Given the description of an element on the screen output the (x, y) to click on. 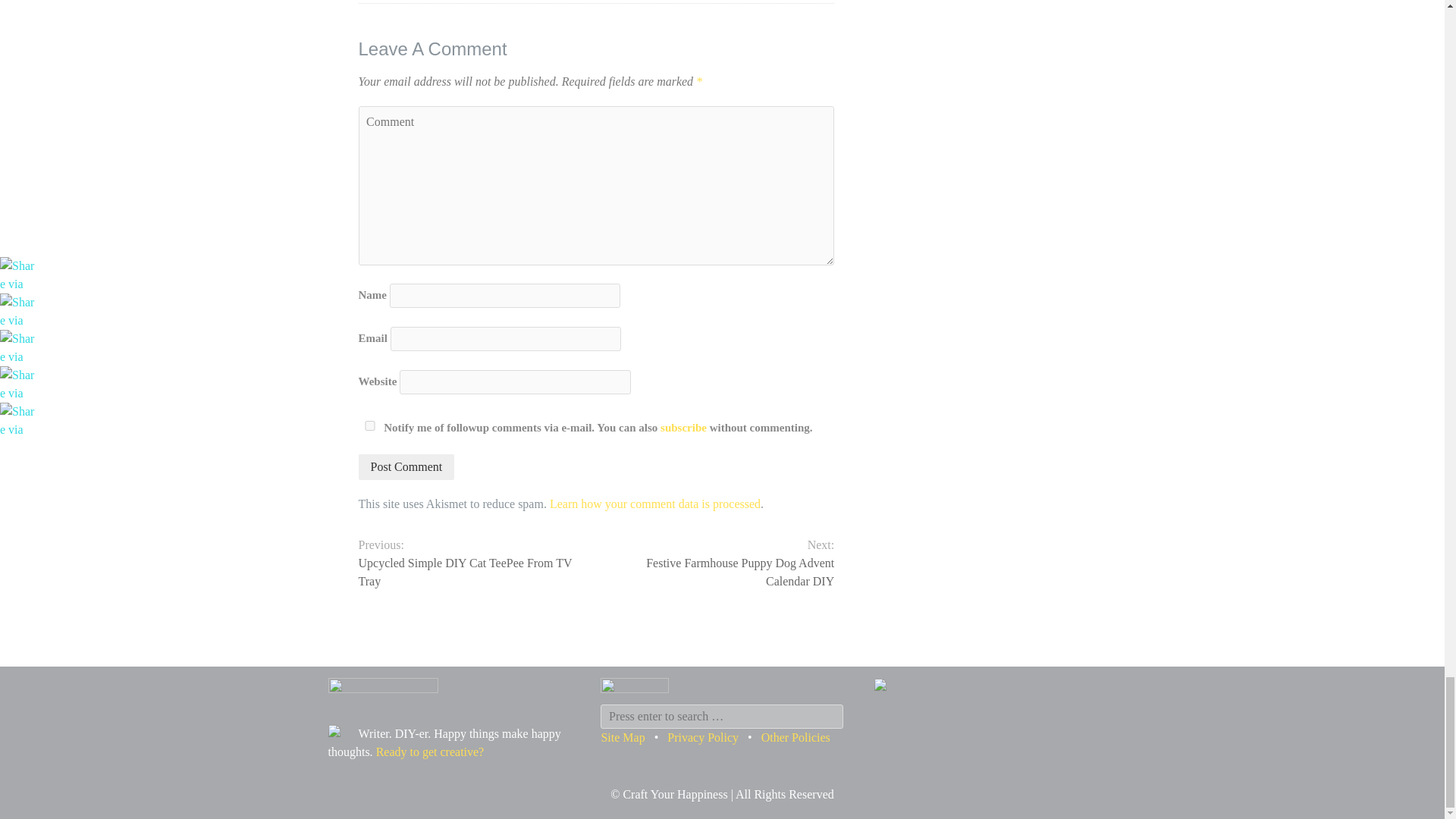
Search for: (721, 716)
yes (369, 425)
Post Comment (406, 466)
